Given the description of an element on the screen output the (x, y) to click on. 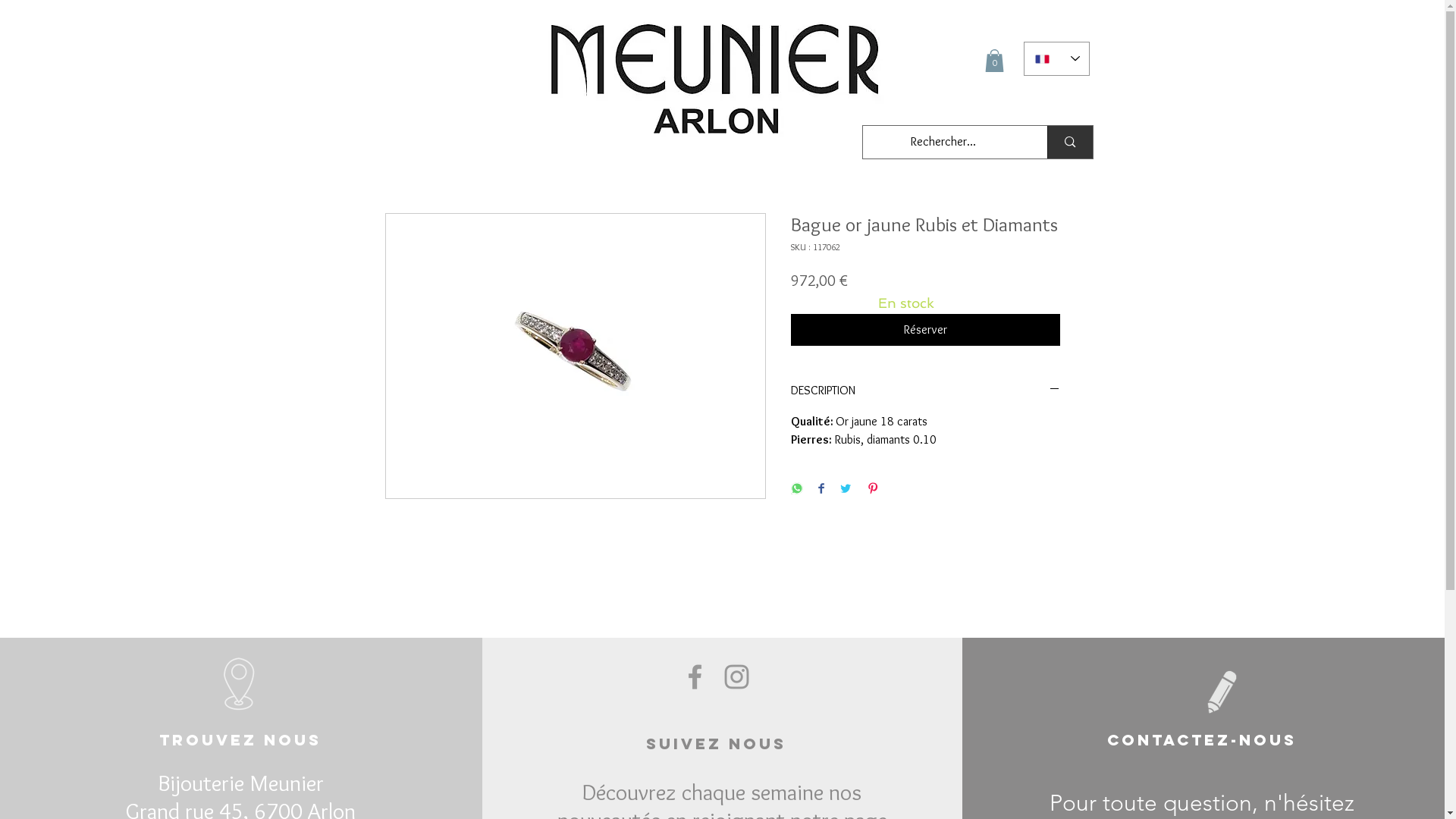
CONTACTEZ-NOUS Element type: text (1201, 740)
Bijouterie Meunier Element type: text (240, 782)
0 Element type: text (993, 60)
DESCRIPTION Element type: text (924, 390)
